Given the description of an element on the screen output the (x, y) to click on. 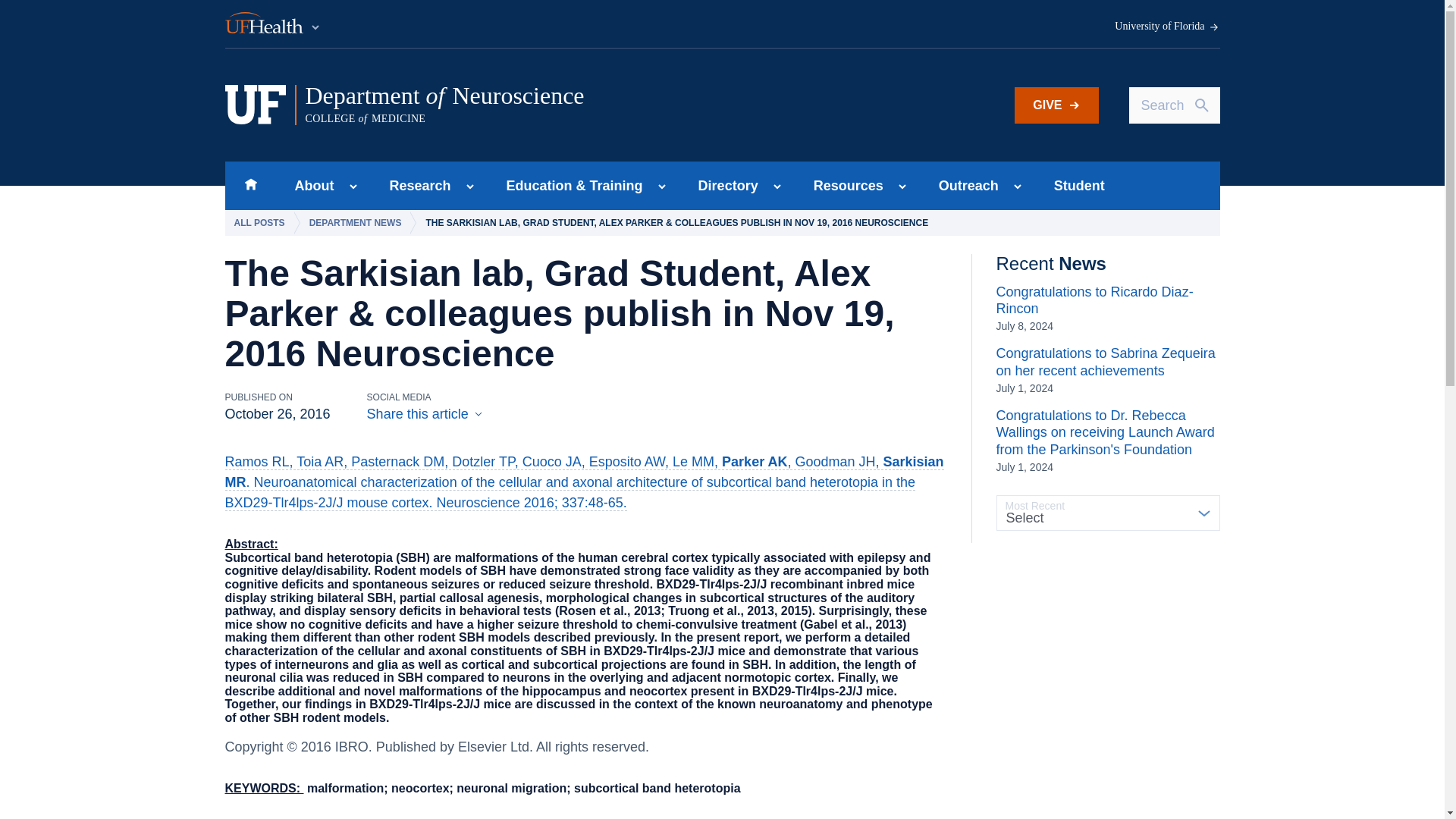
Research (415, 185)
UF Health (272, 24)
Home (515, 105)
Skip to main content (250, 185)
University of Florida (309, 185)
GIVE (1167, 26)
